Given the description of an element on the screen output the (x, y) to click on. 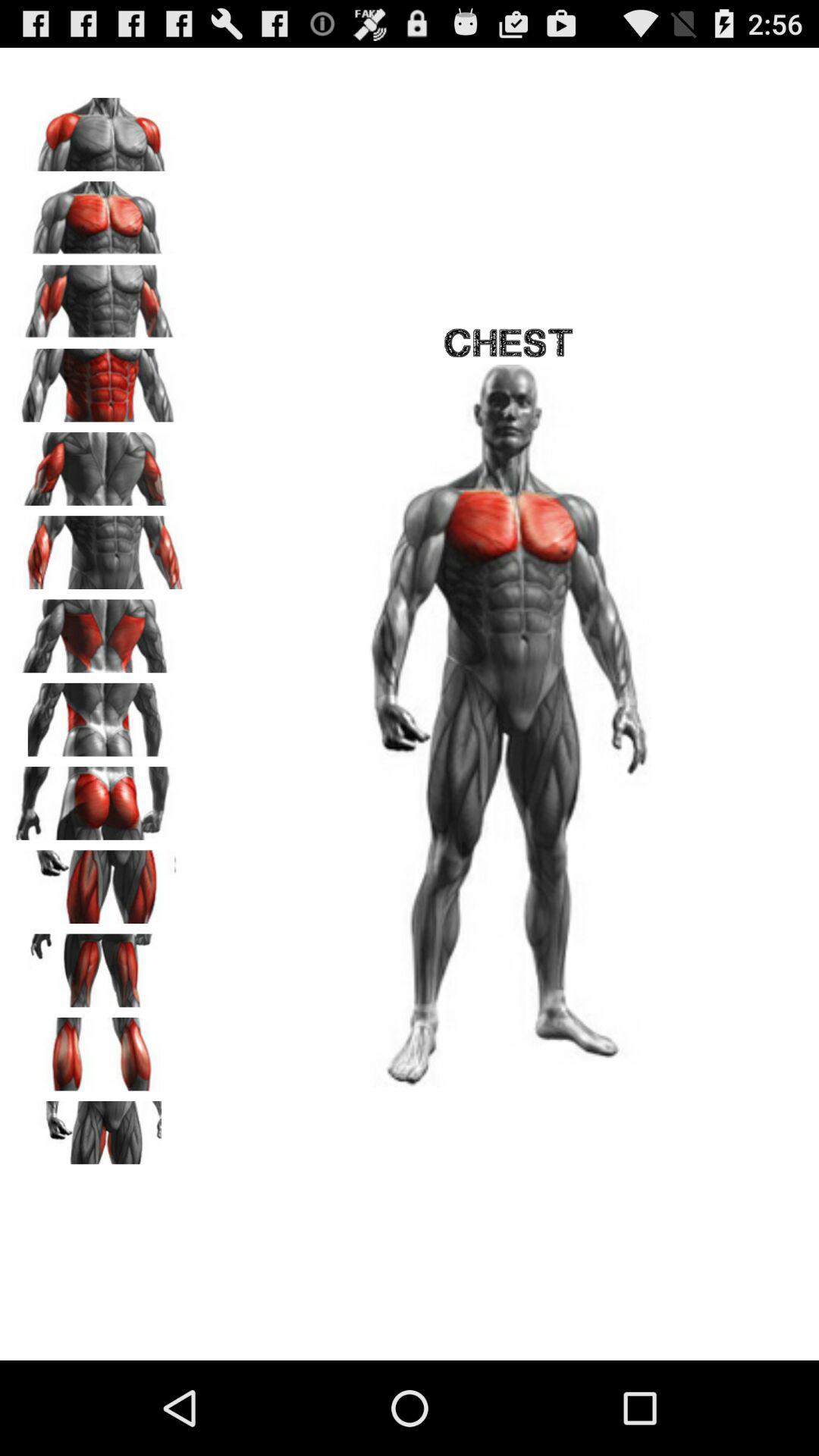
focus on shoulders (99, 129)
